Given the description of an element on the screen output the (x, y) to click on. 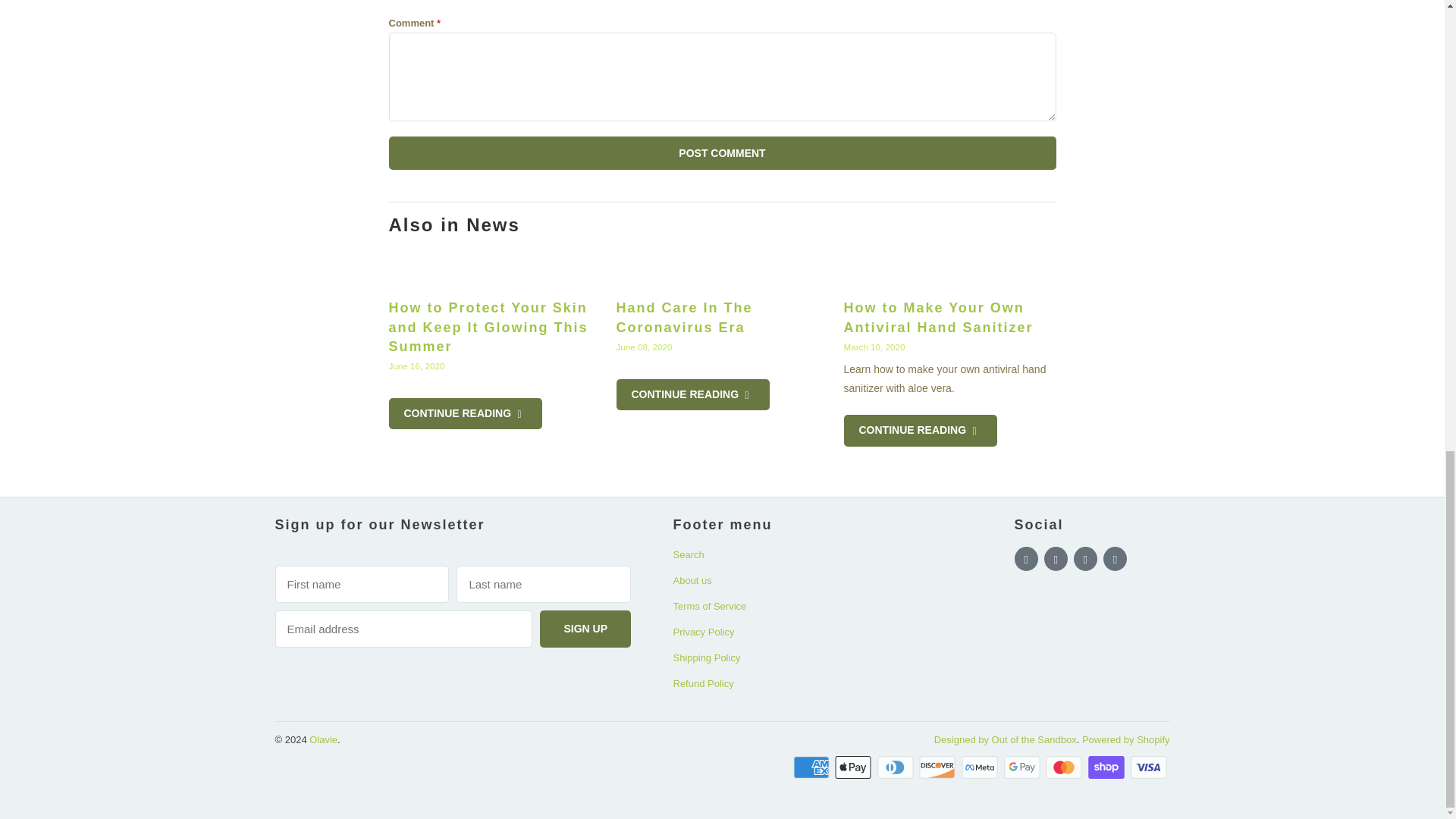
How to Protect Your Skin and Keep It Glowing This Summer (464, 413)
Google Pay (1023, 766)
Sign Up (585, 628)
Diners Club (897, 766)
How to Protect Your Skin and Keep It Glowing This Summer (493, 268)
Discover (938, 766)
Visa (1149, 766)
Meta Pay (980, 766)
Apple Pay (854, 766)
Mastercard (1064, 766)
Post comment (721, 152)
Shop Pay (1106, 766)
Hand Care In The Coronavirus Era (721, 268)
American Express (812, 766)
How to Protect Your Skin and Keep It Glowing This Summer (488, 326)
